Given the description of an element on the screen output the (x, y) to click on. 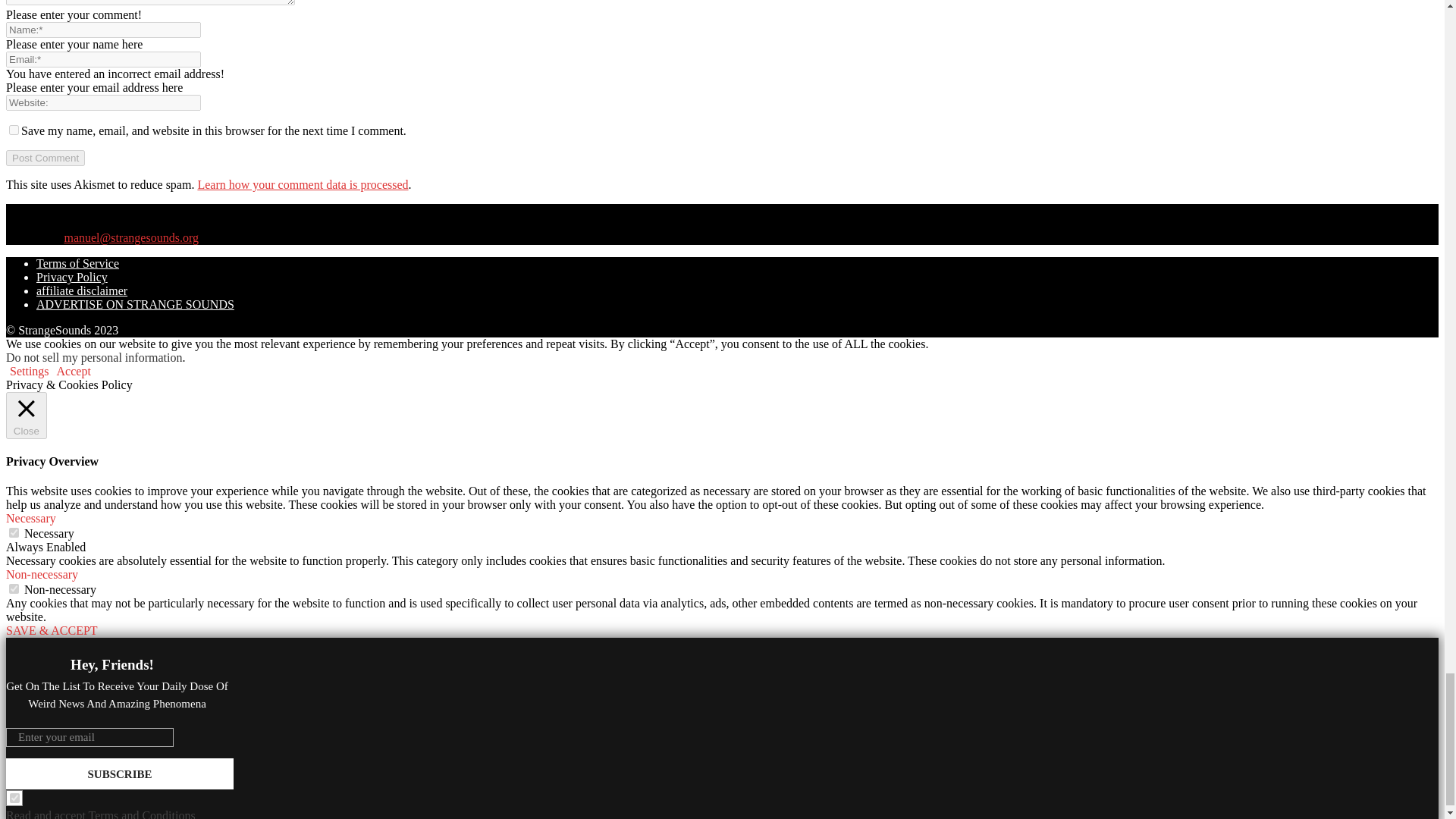
yes (13, 130)
1 (15, 798)
on (13, 532)
on (13, 588)
Post Comment (44, 157)
